Given the description of an element on the screen output the (x, y) to click on. 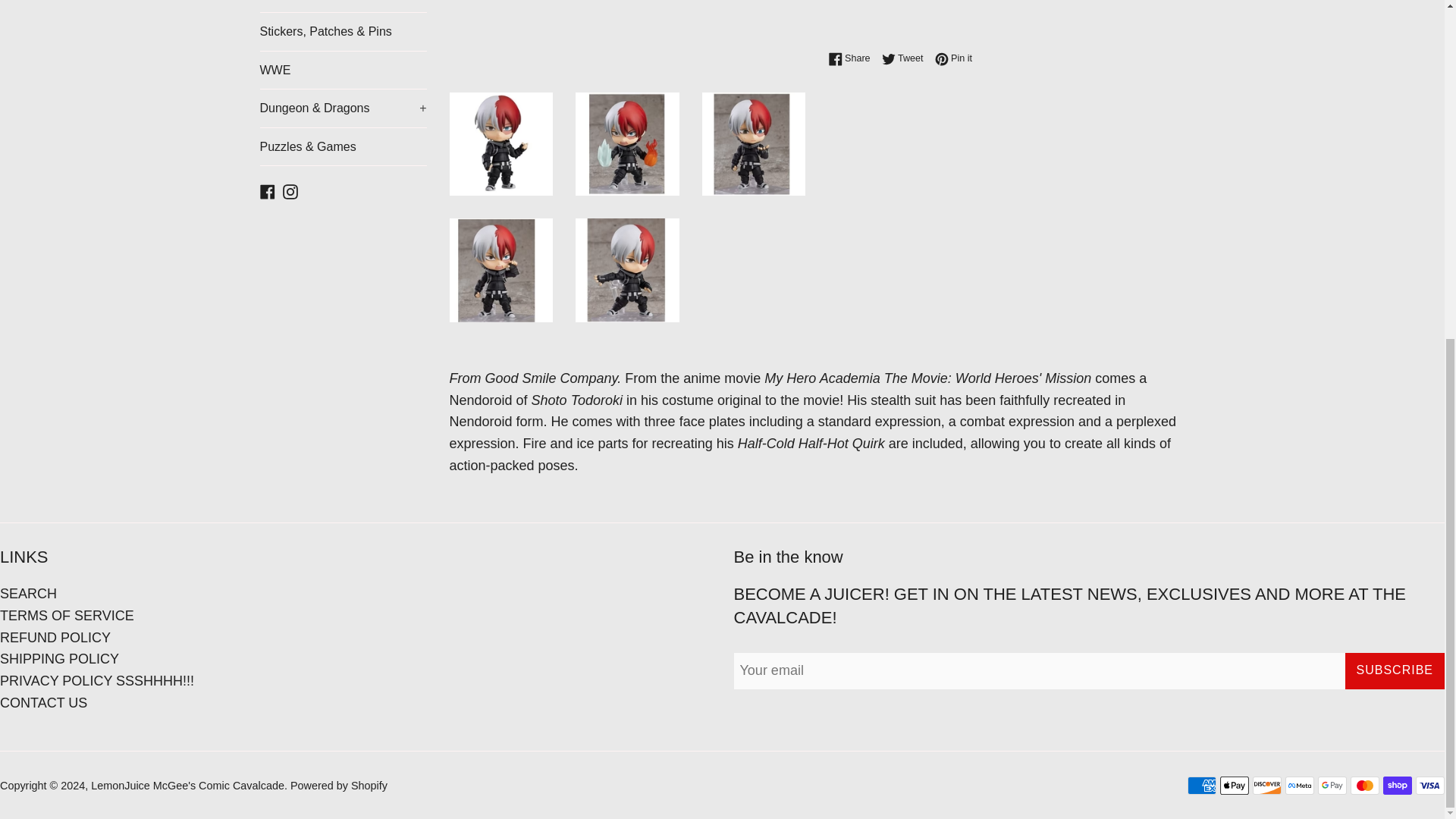
LemonJuice McGee's Comic Cavalcade on Facebook (267, 190)
Tweet on Twitter (906, 58)
Apple Pay (1234, 785)
Discover (1266, 785)
Mastercard (1364, 785)
Share on Facebook (852, 58)
LemonJuice McGee's Comic Cavalcade on Instagram (290, 190)
WWE (342, 70)
Meta Pay (1299, 785)
Pin on Pinterest (953, 58)
